Given the description of an element on the screen output the (x, y) to click on. 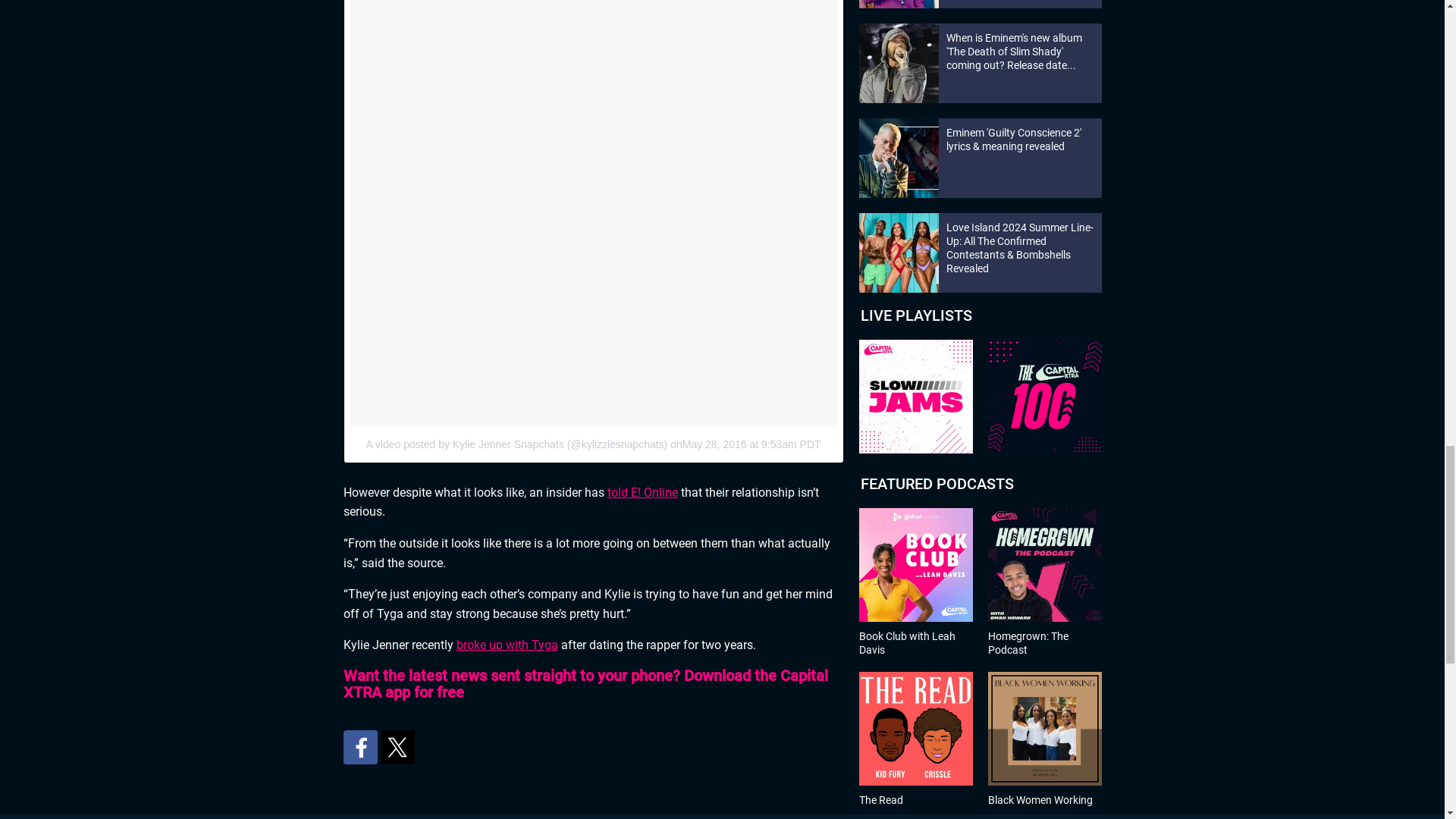
broke up with Tyga (507, 644)
told E! Online (642, 492)
